Given the description of an element on the screen output the (x, y) to click on. 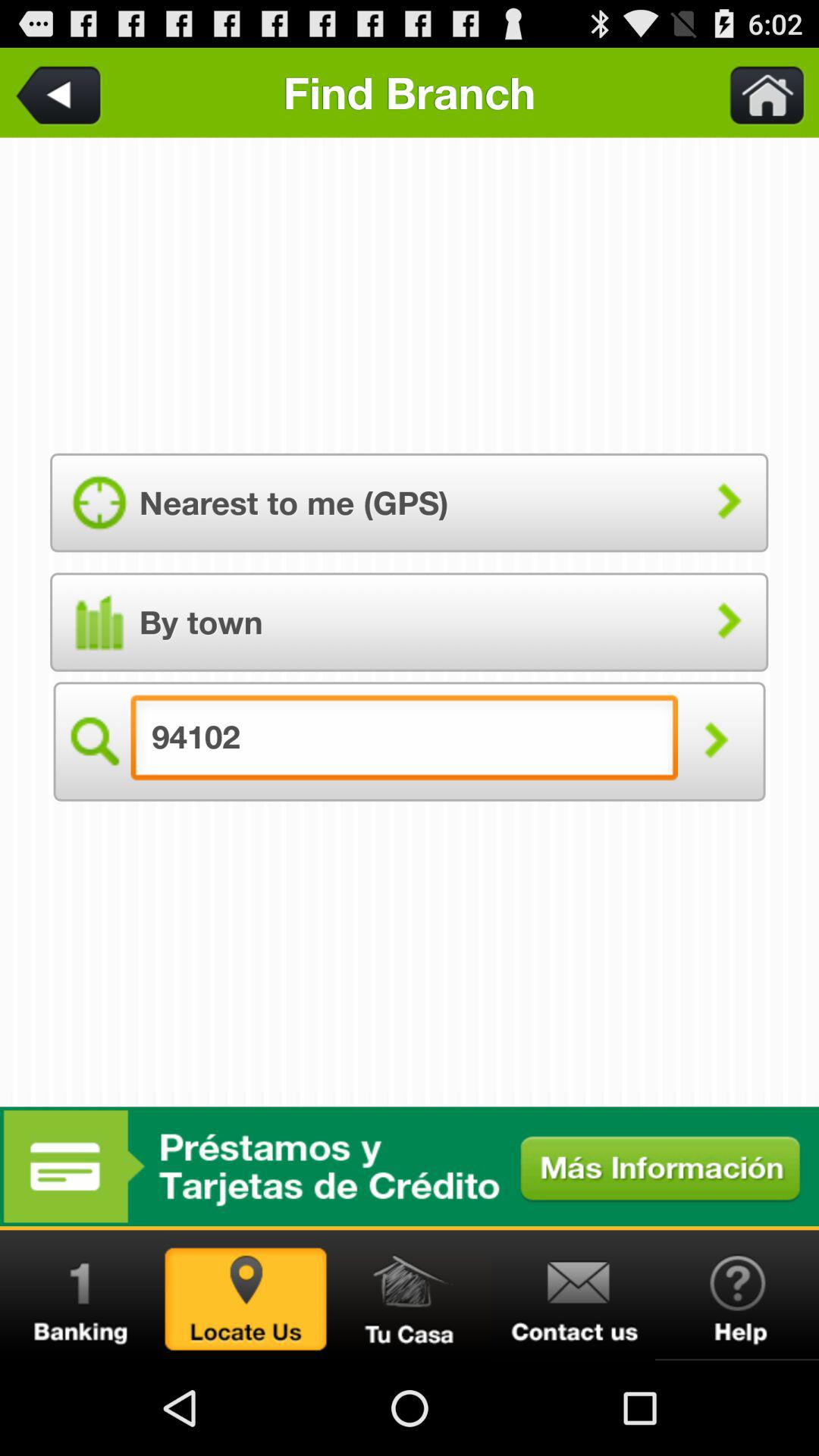
search zip (245, 1295)
